Given the description of an element on the screen output the (x, y) to click on. 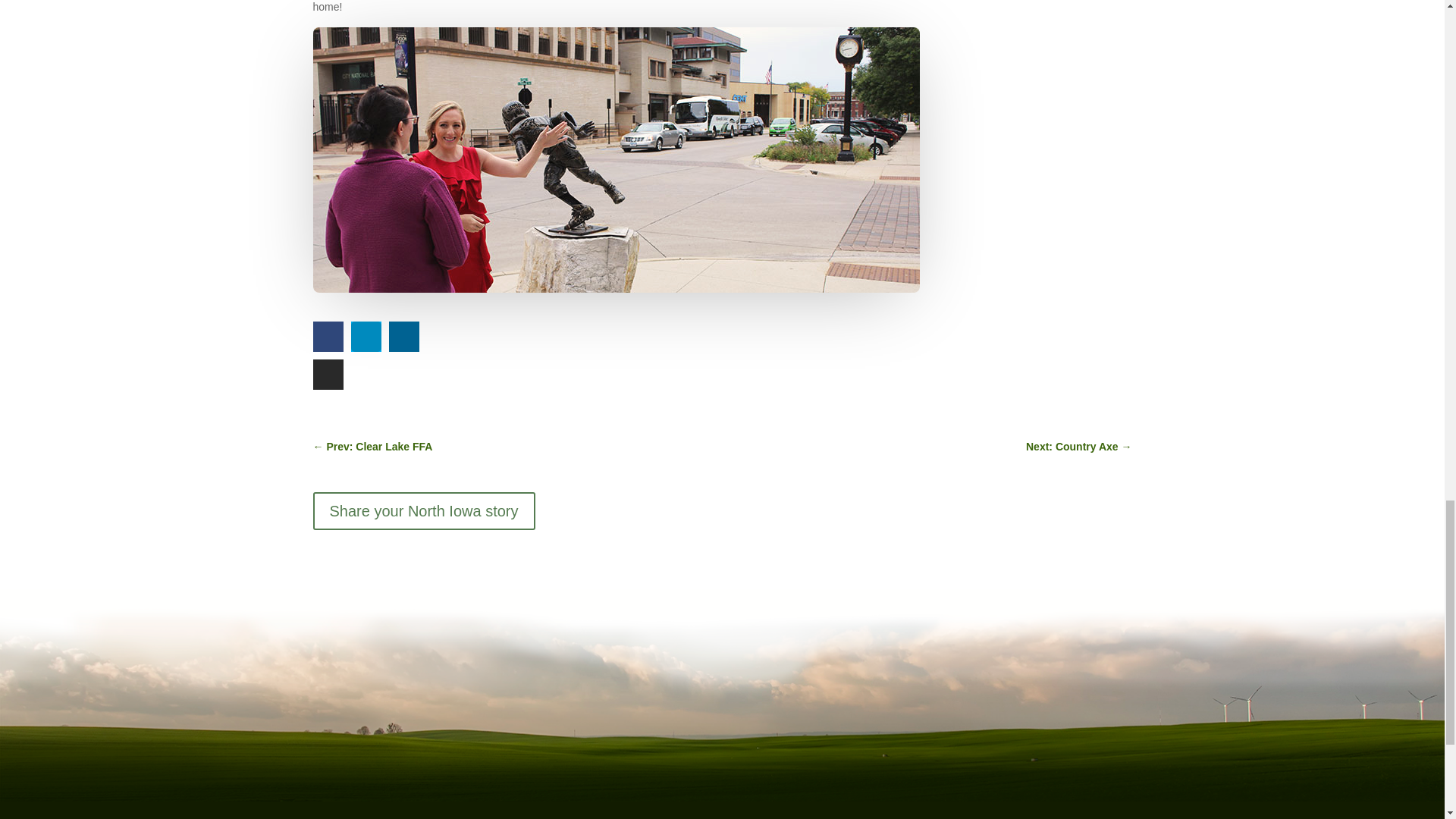
Share your North Iowa story (423, 510)
